Given the description of an element on the screen output the (x, y) to click on. 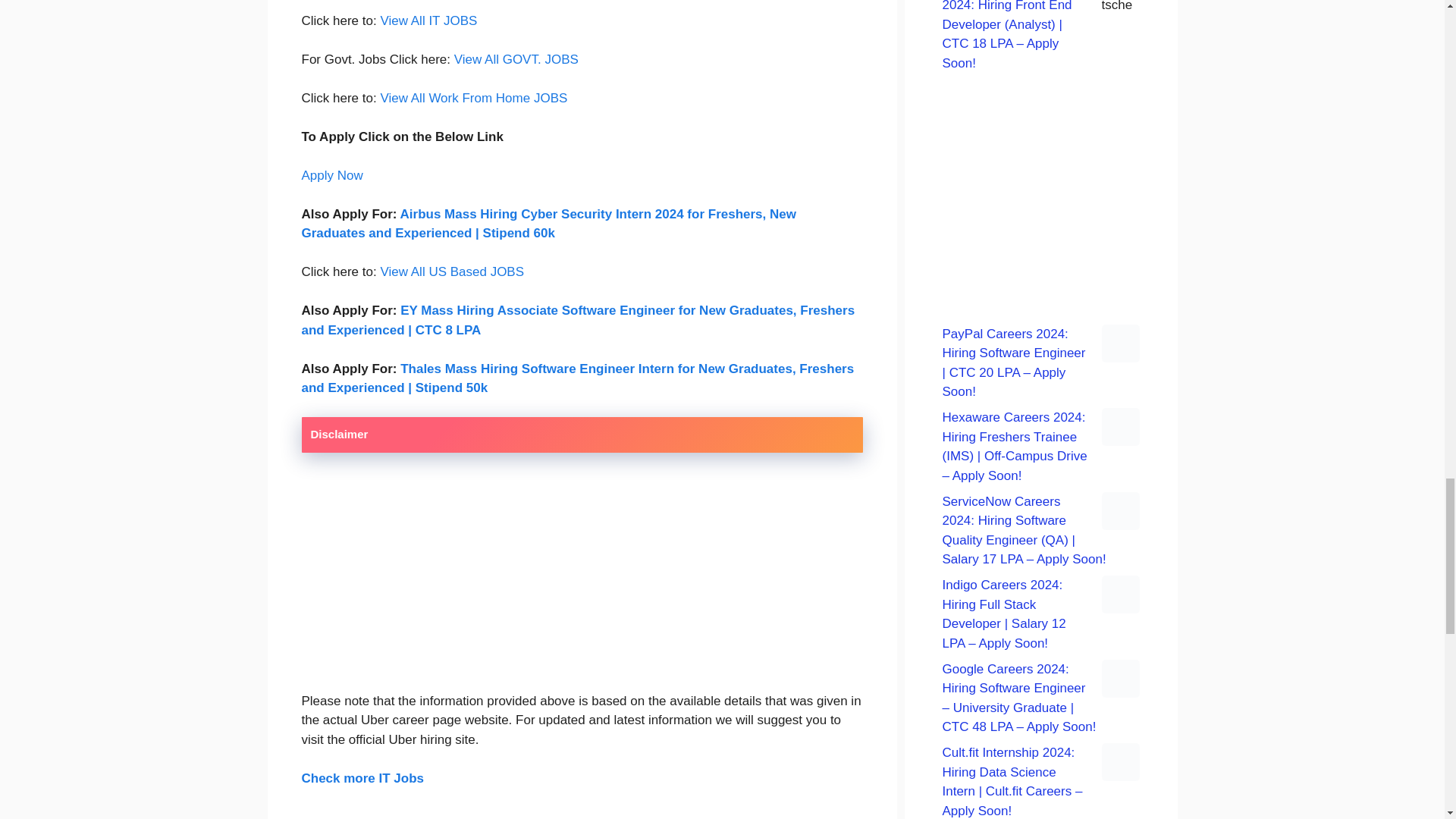
View All US Based JOBS (452, 271)
View All IT JOBS (428, 20)
Check more IT Jobs (363, 778)
View All Work From Home JOBS (473, 97)
View All GOVT. JOBS (516, 59)
Apply Now (331, 175)
